Given the description of an element on the screen output the (x, y) to click on. 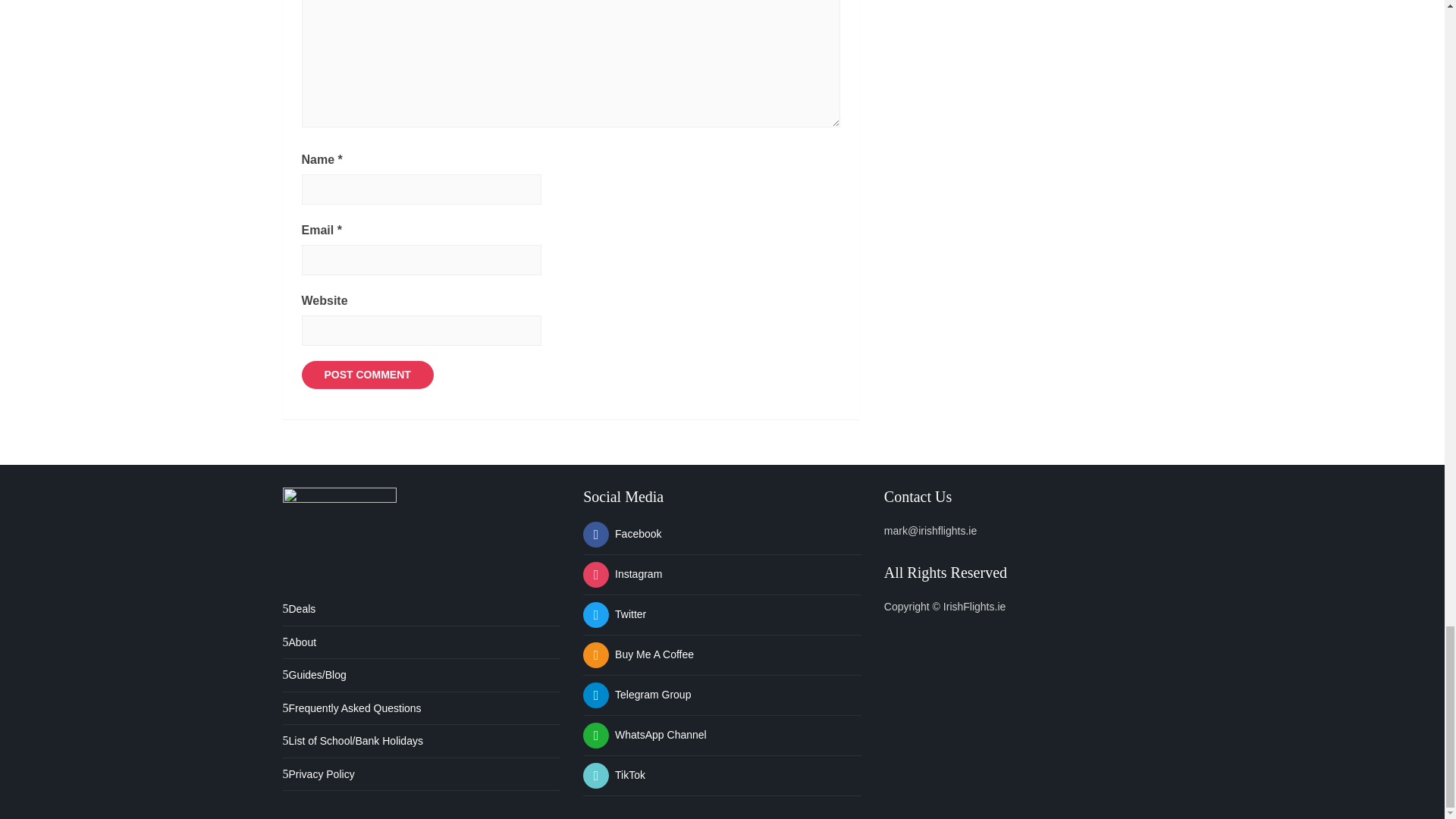
Twitter (614, 613)
Instagram (622, 573)
Post Comment (367, 375)
Facebook (622, 533)
Buy Me A Coffee (638, 654)
TikTok (614, 775)
WhatsApp Channel (644, 734)
Post Comment (367, 375)
Telegram Group (636, 694)
